Given the description of an element on the screen output the (x, y) to click on. 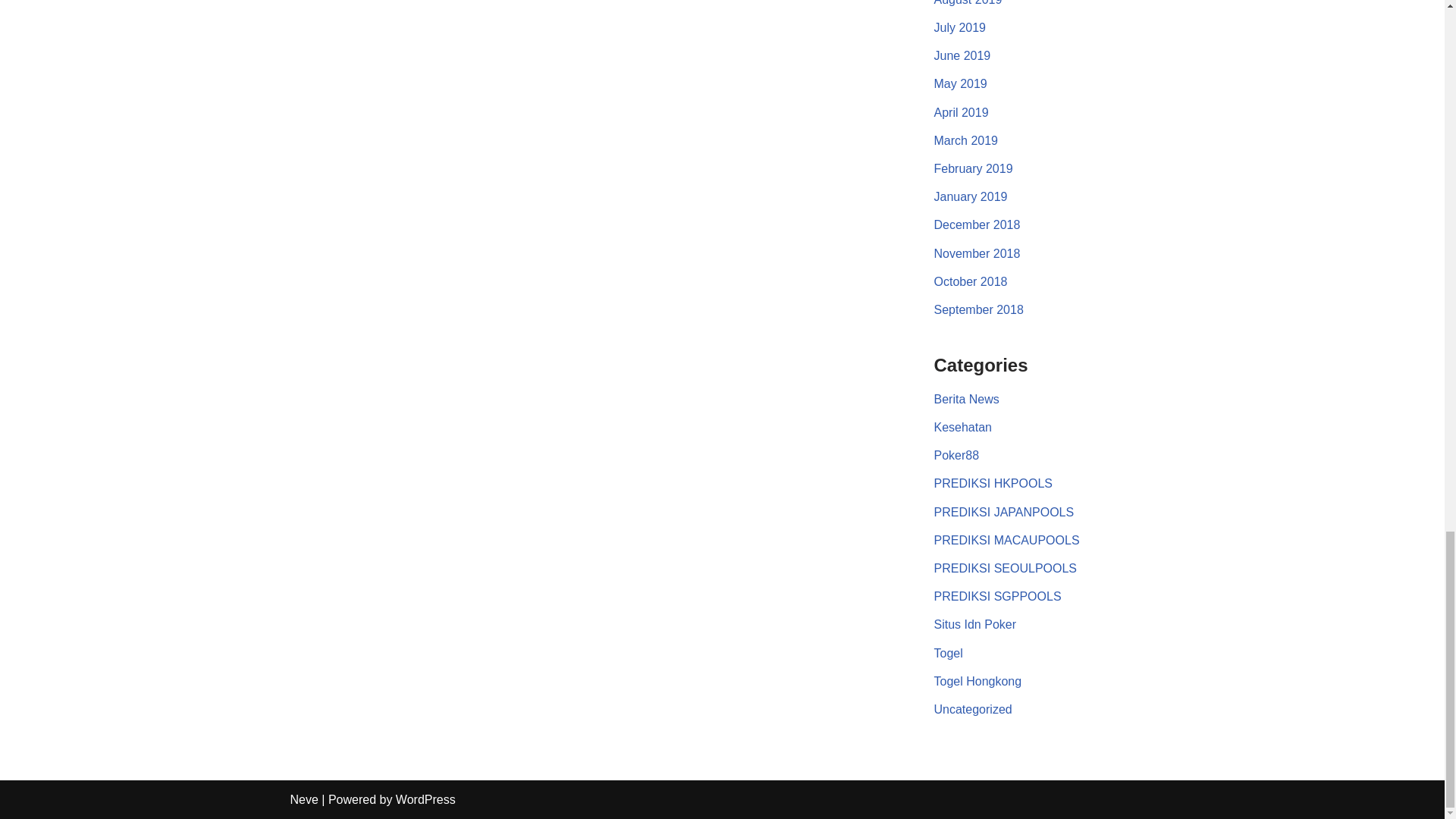
Prediksi togel seoul terupdate dan juga paling akurat (1005, 567)
Kumpulan berita terbaru dan paling update (966, 399)
Prediksi togel hongkong paling akurat dan juga tepat (993, 482)
